Given the description of an element on the screen output the (x, y) to click on. 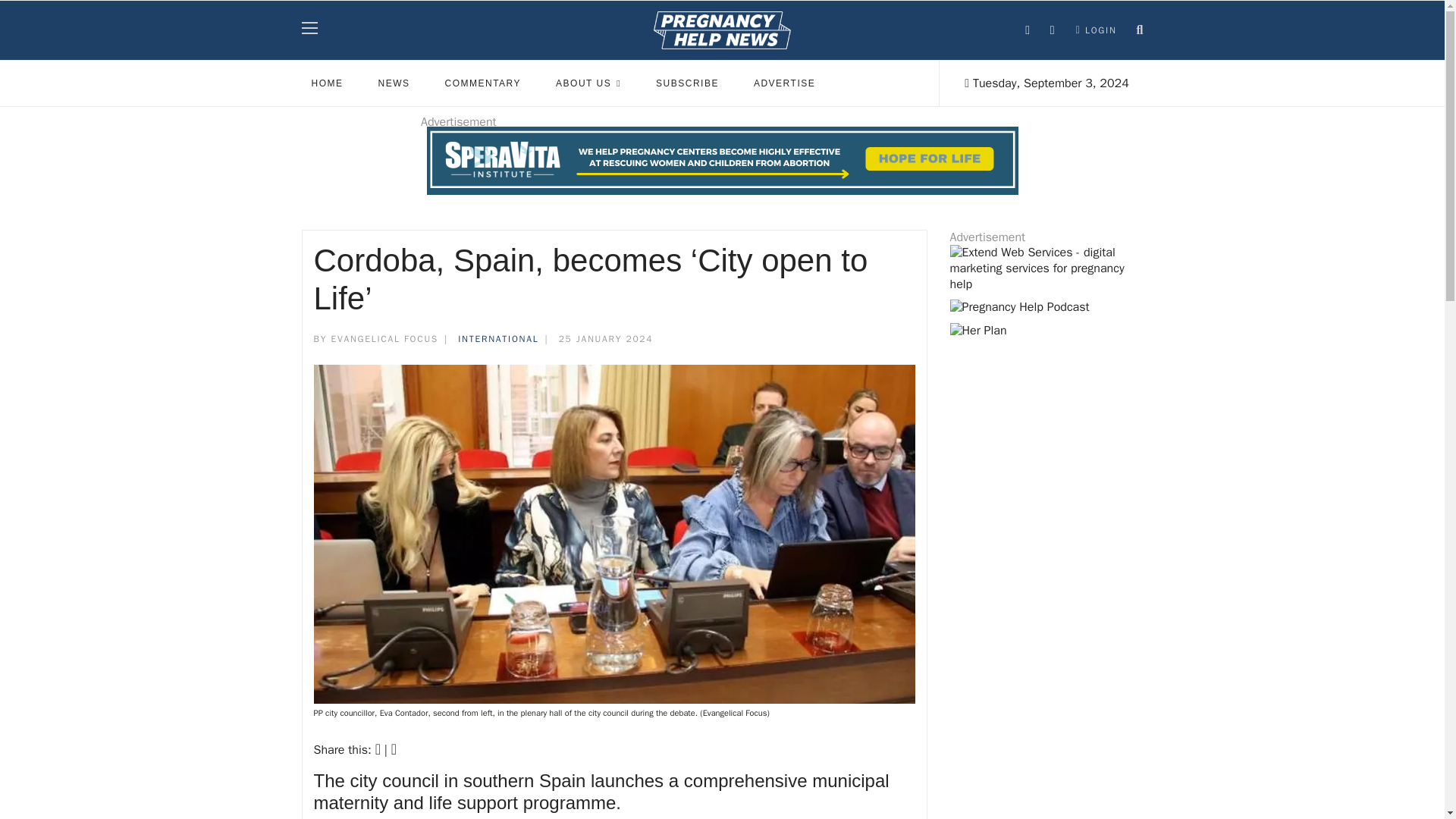
HEADER - SperaVita (721, 160)
Extend Web Services (1045, 267)
Published: 25 January 2024 (595, 339)
Written by: Evangelical Focus (376, 339)
ABOUT US (588, 83)
HOME (327, 83)
LOGIN (1096, 29)
NEWS (394, 83)
ADVERTISE (784, 83)
COMMENTARY (483, 83)
